Given the description of an element on the screen output the (x, y) to click on. 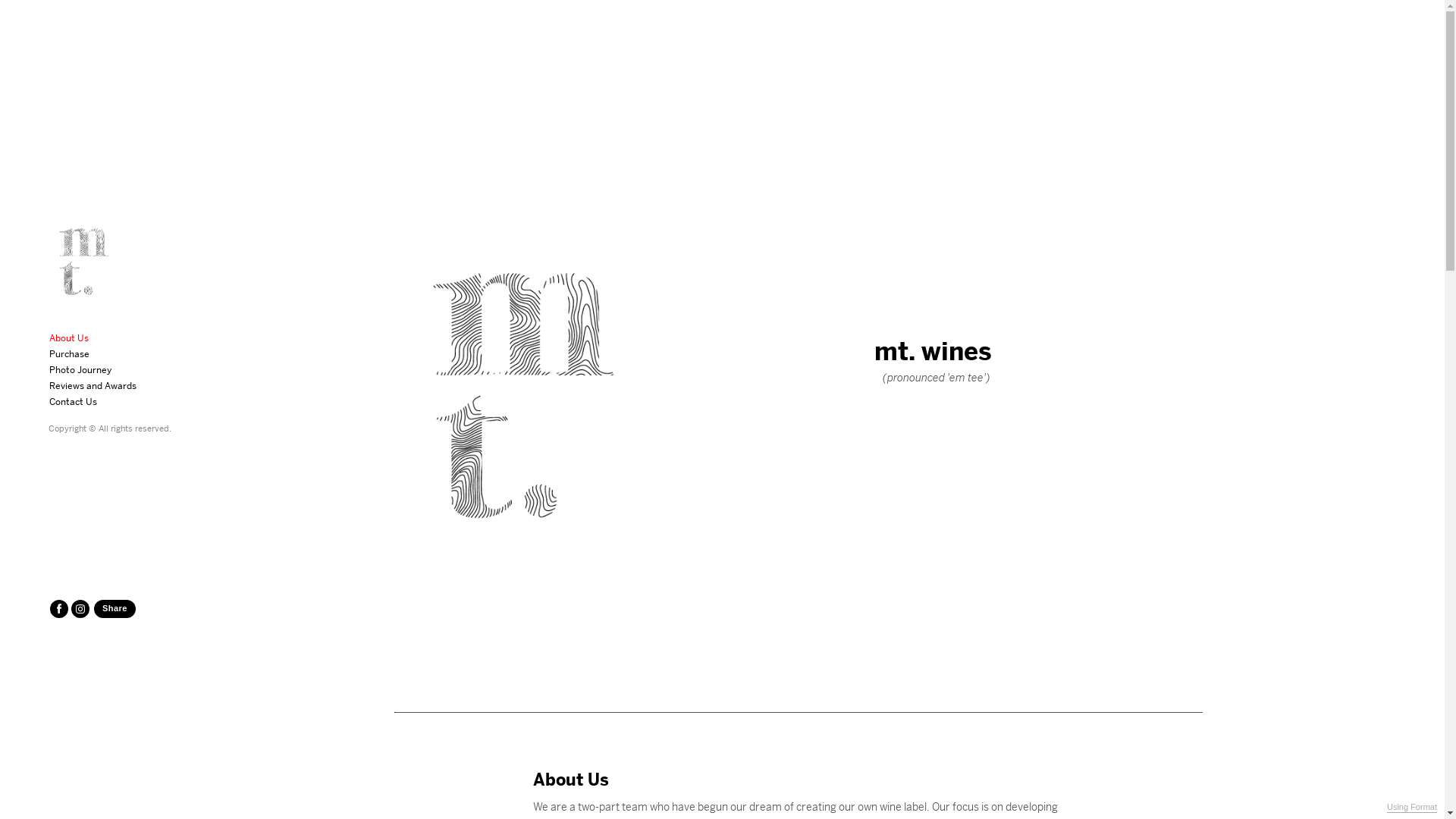
Using Format Element type: text (1411, 807)
Photo Journey Element type: text (82, 369)
Contact Us Element type: text (74, 401)
Share Element type: text (114, 608)
Purchase Element type: text (71, 353)
About Us Element type: text (70, 337)
Reviews and Awards Element type: text (94, 385)
